Given the description of an element on the screen output the (x, y) to click on. 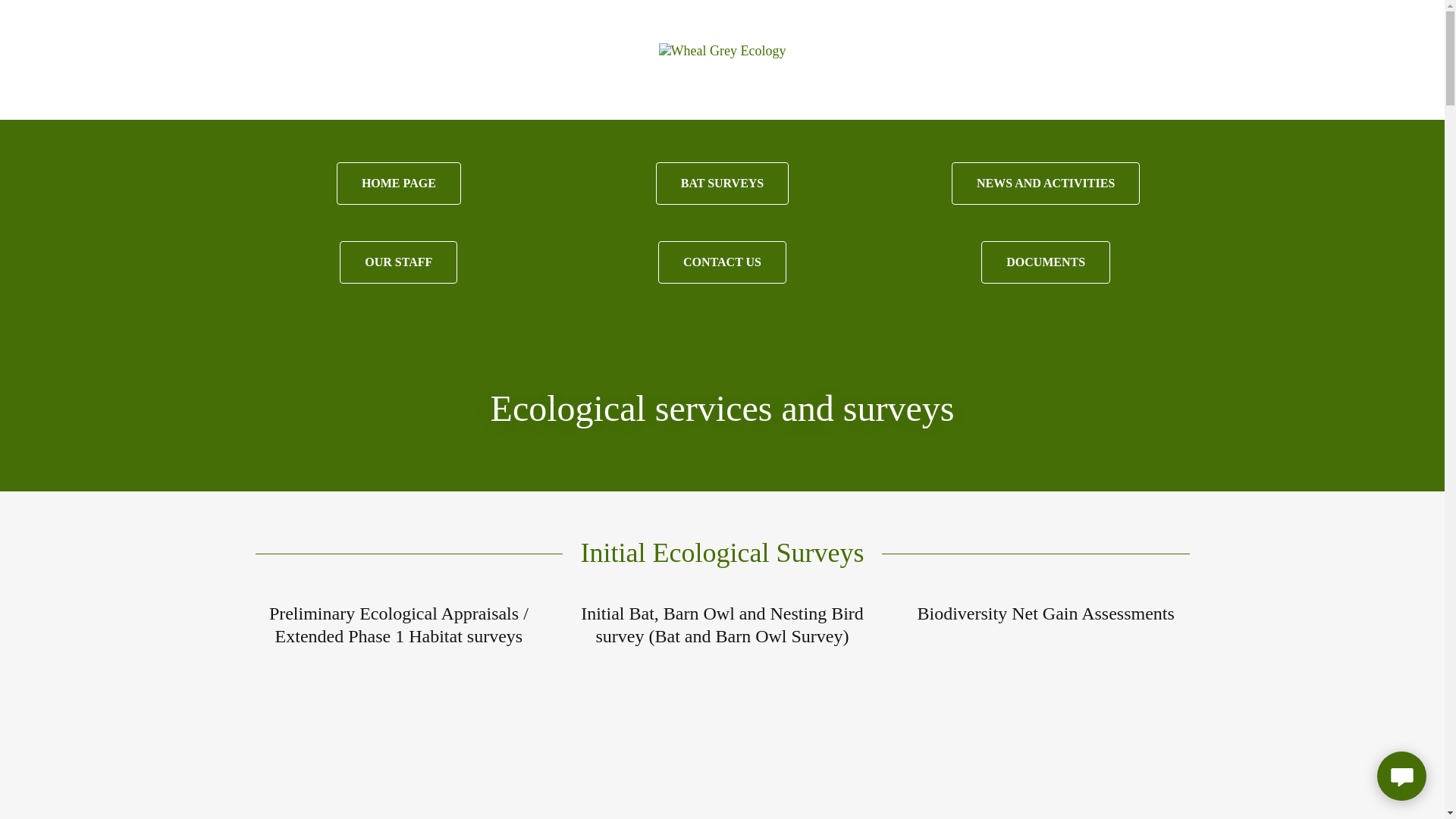
Wheal Grey Ecology (722, 49)
OUR STAFF (398, 261)
CONTACT US (722, 261)
NEWS AND ACTIVITIES (1046, 183)
BAT SURVEYS (722, 183)
HOME PAGE (398, 183)
DOCUMENTS (1045, 261)
